Given the description of an element on the screen output the (x, y) to click on. 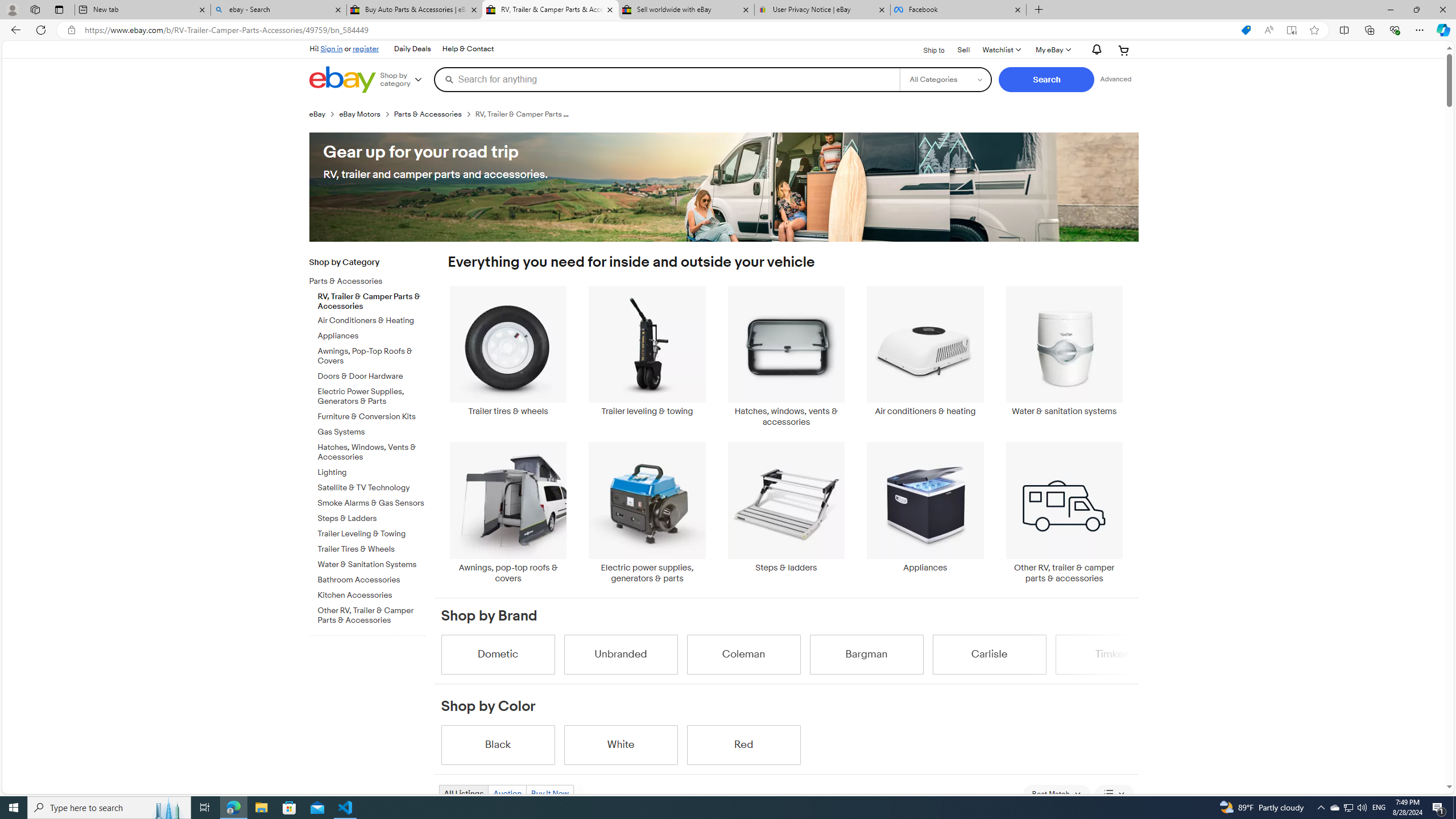
Doors & Door Hardware (371, 374)
Other RV, trailer & camper parts & accessories (1064, 512)
Other RV, trailer & camper parts & accessories (1064, 512)
Sell (963, 49)
App bar (728, 29)
Air Conditioners & Heating (371, 318)
Close (1442, 9)
Parts & Accessories (362, 281)
Other RV, Trailer & Camper Parts & Accessories (371, 613)
Daily Deals (412, 49)
Air Conditioners & Heating (371, 320)
Tab actions menu (58, 9)
Facebook (957, 9)
Advanced Search (1115, 78)
Ship to (926, 50)
